Given the description of an element on the screen output the (x, y) to click on. 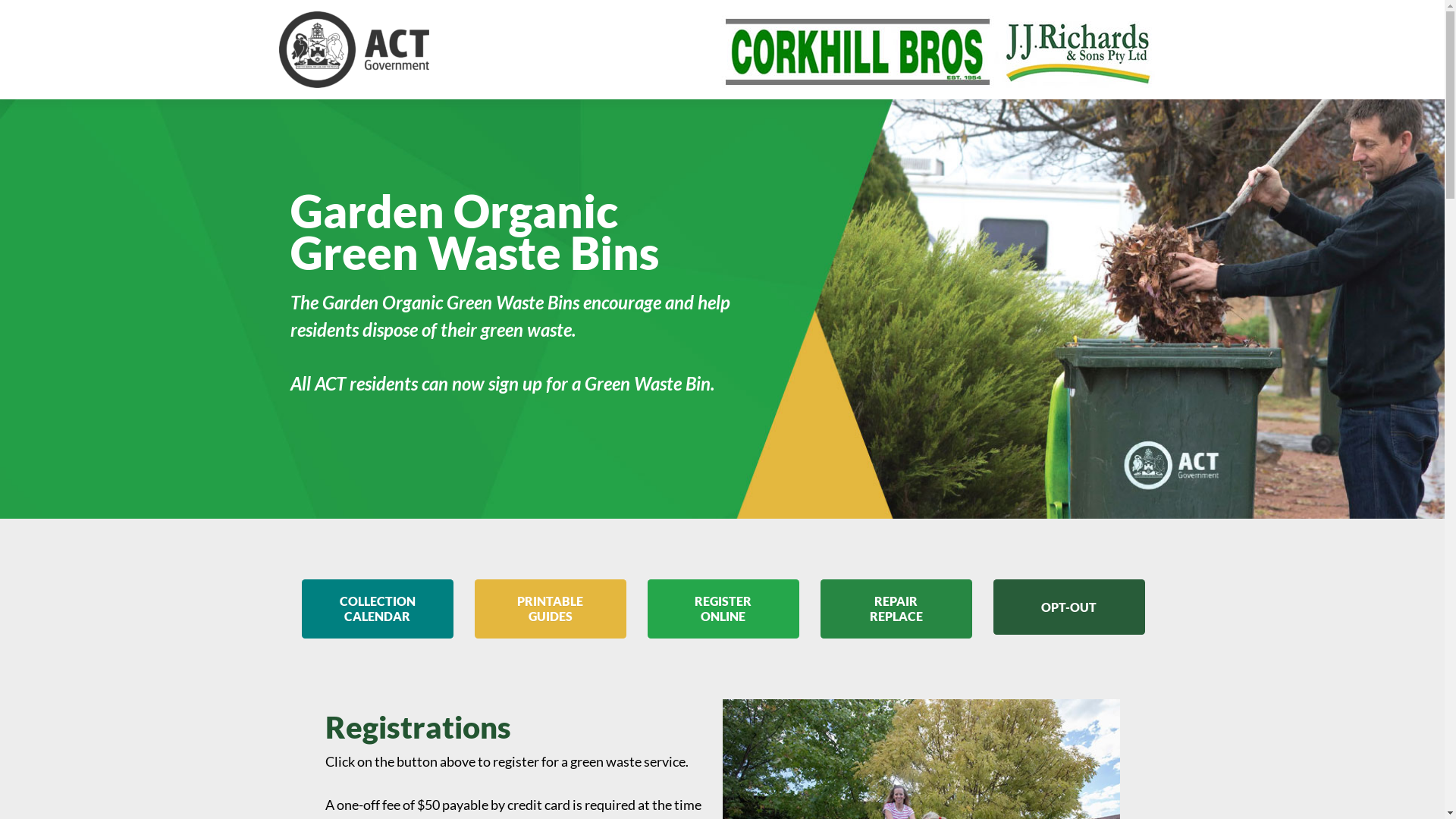
REGISTER
ONLINE Element type: text (723, 608)
PRINTABLE
GUIDES Element type: text (550, 608)
COLLECTION
CALENDAR Element type: text (377, 608)
REPAIR
REPLACE Element type: text (896, 608)
OPT-OUT Element type: text (1069, 606)
